Given the description of an element on the screen output the (x, y) to click on. 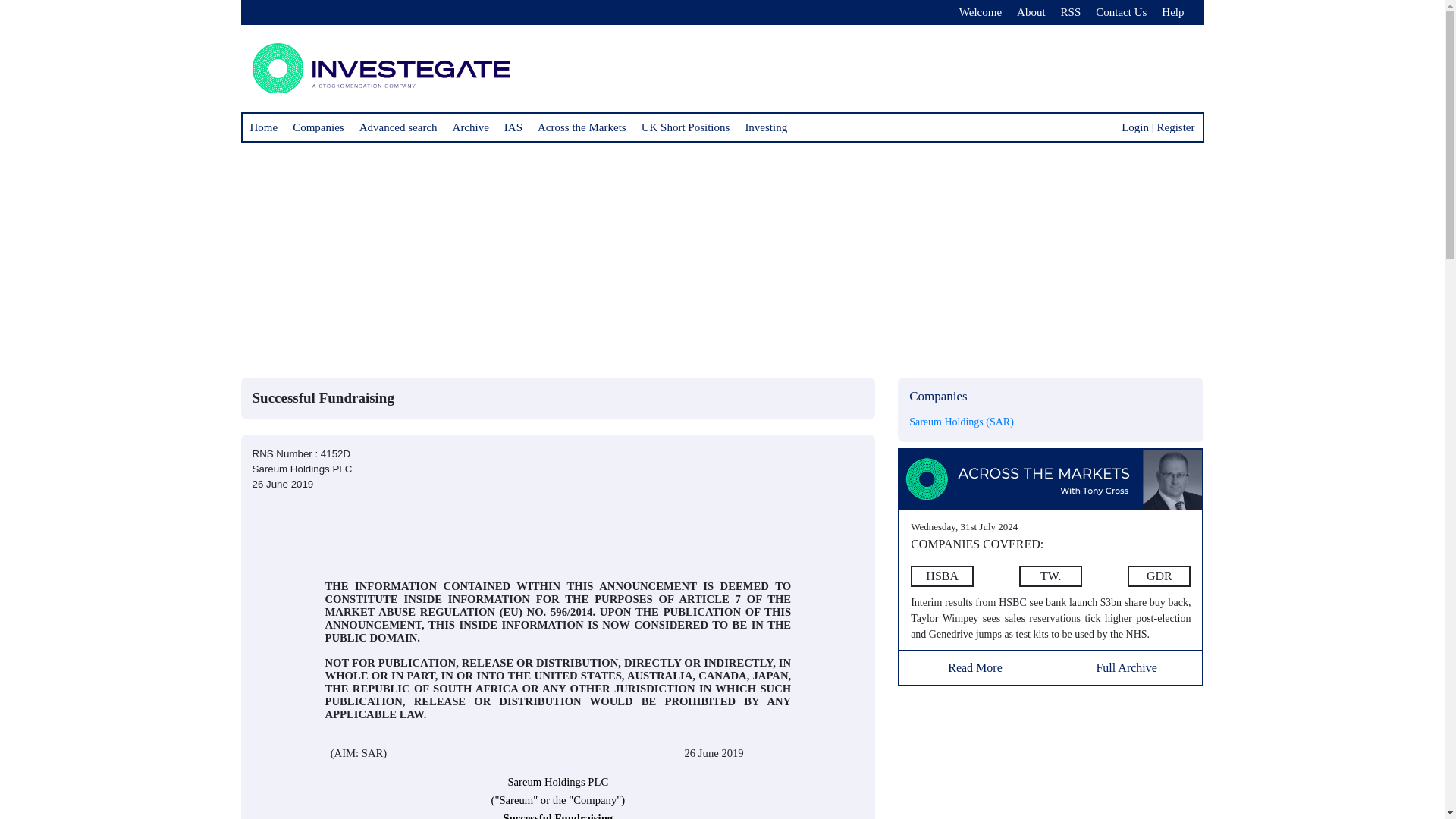
Full Archive (1126, 664)
HSBA (942, 576)
About (1030, 12)
Across the Markets (581, 127)
Home (264, 127)
IAS (512, 127)
TW. (1050, 576)
See the full archive HERE (1126, 664)
Advanced search (398, 127)
Investing (765, 127)
Read the full Article HERE (1050, 477)
Read More (975, 664)
Help (1172, 12)
Companies (318, 127)
Read the full Article HERE (1050, 576)
